Given the description of an element on the screen output the (x, y) to click on. 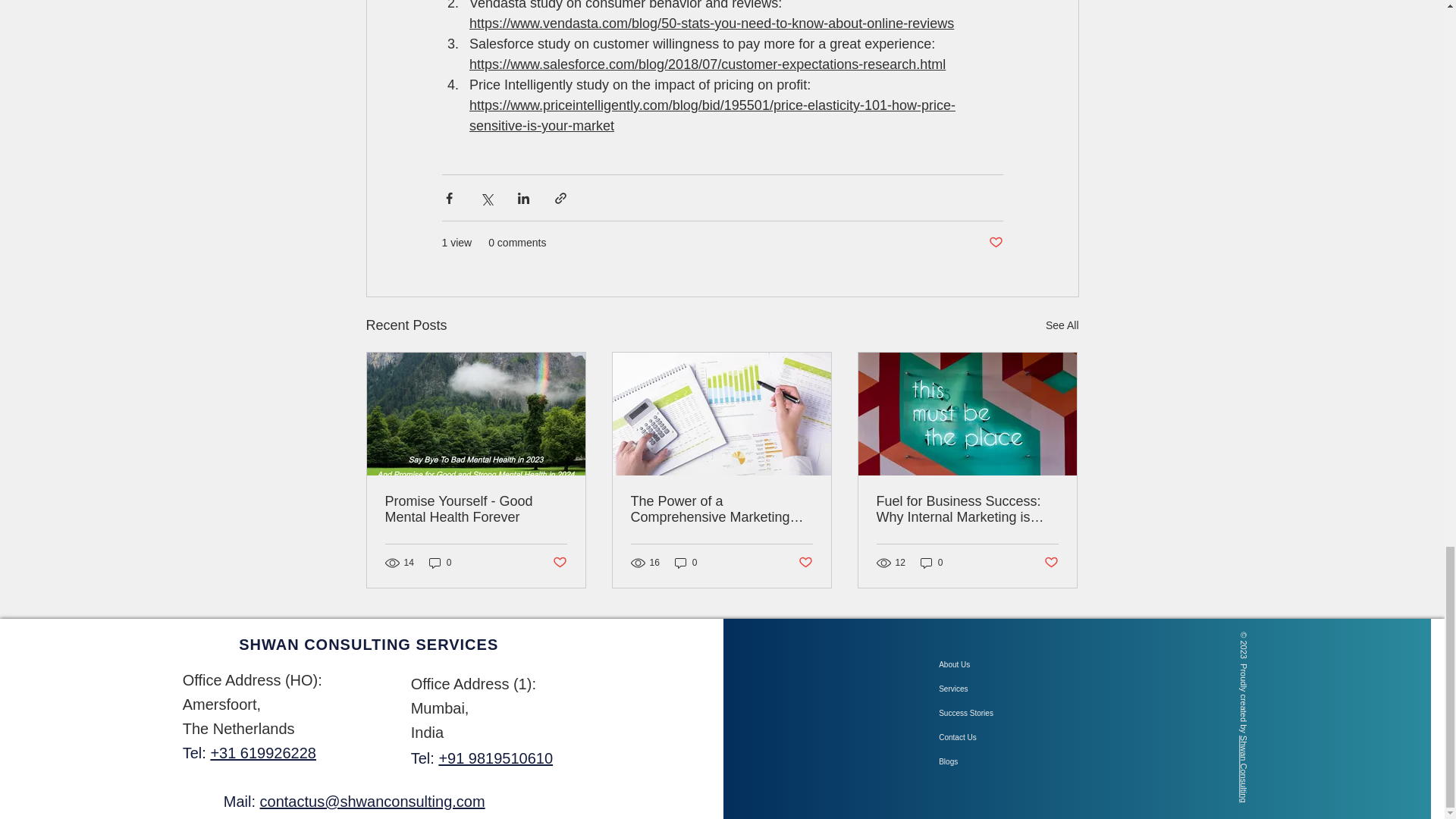
SHWAN CONSULTING SERVICES (367, 644)
0 (685, 562)
Promise Yourself - Good Mental Health Forever (476, 509)
The Power of a Comprehensive Marketing Audit (721, 509)
Post not marked as liked (558, 562)
See All (1061, 325)
0 (931, 562)
0 (440, 562)
Post not marked as liked (804, 562)
Fuel for Business Success: Why Internal Marketing is Crucial (967, 509)
